Given the description of an element on the screen output the (x, y) to click on. 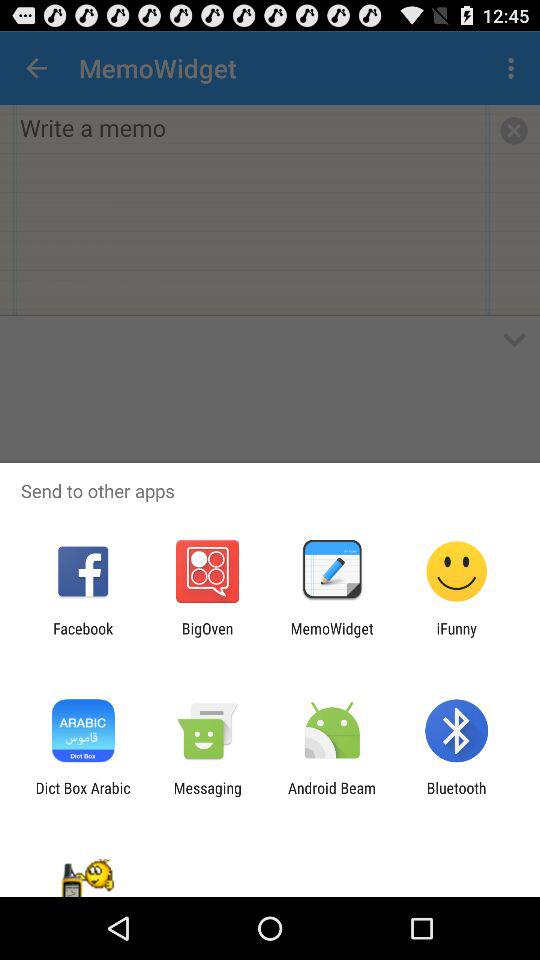
turn off the icon next to bigoven icon (83, 637)
